Given the description of an element on the screen output the (x, y) to click on. 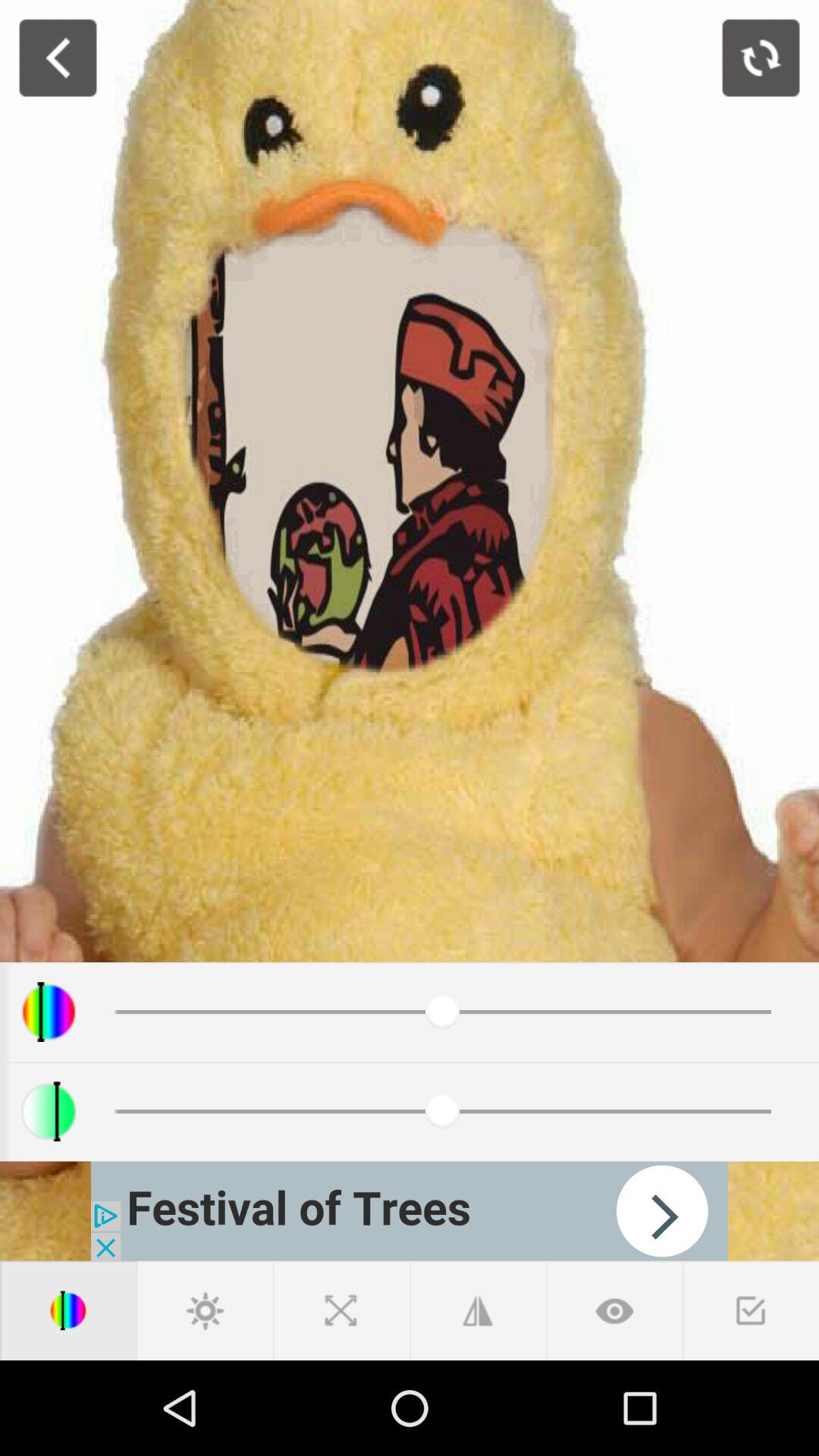
symbol (750, 1310)
